Given the description of an element on the screen output the (x, y) to click on. 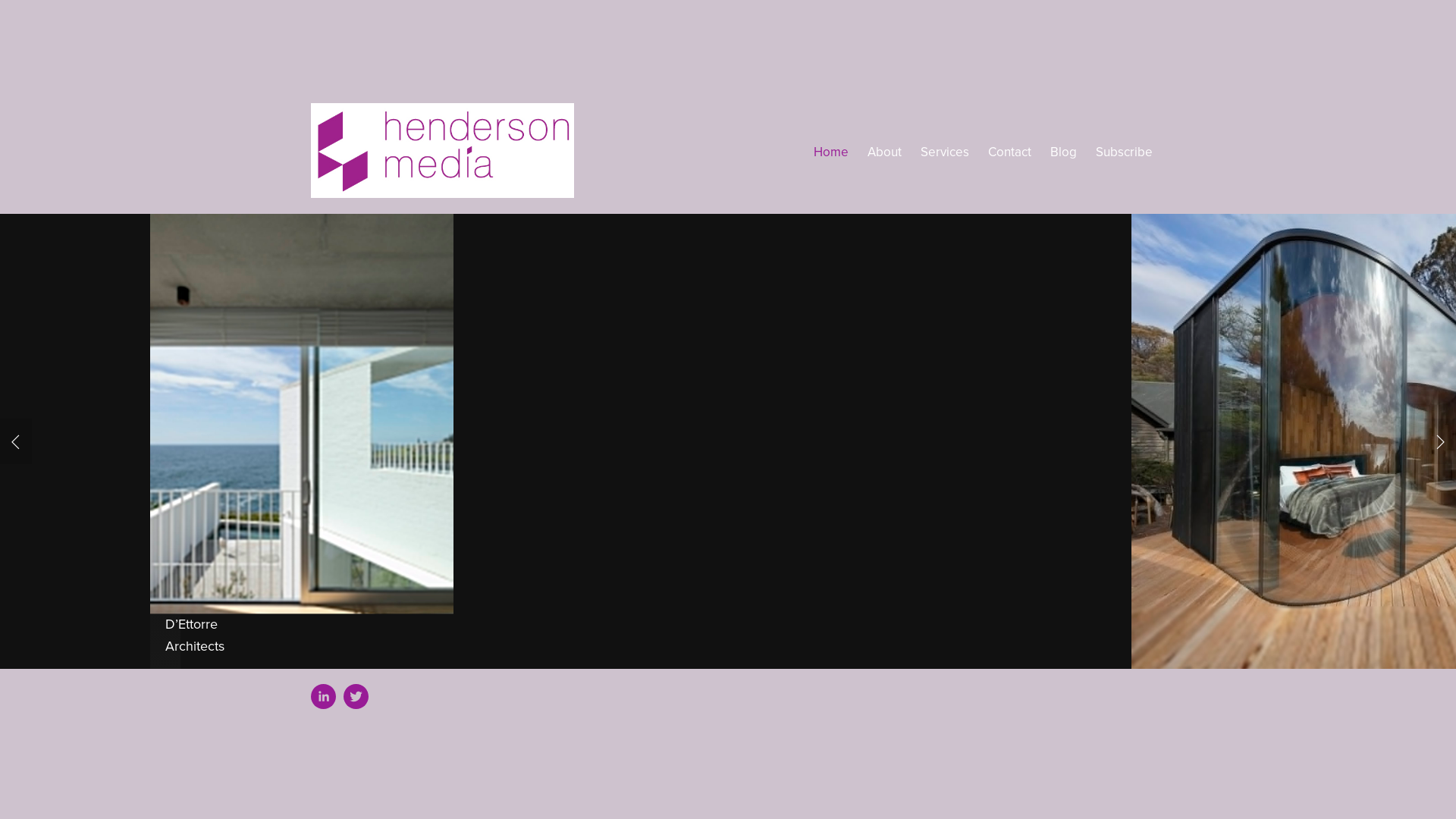
Subscribe Element type: text (1123, 152)
Services Element type: text (944, 152)
Home Element type: text (830, 152)
Contact Element type: text (1009, 152)
About Element type: text (884, 152)
Blog Element type: text (1063, 152)
